Given the description of an element on the screen output the (x, y) to click on. 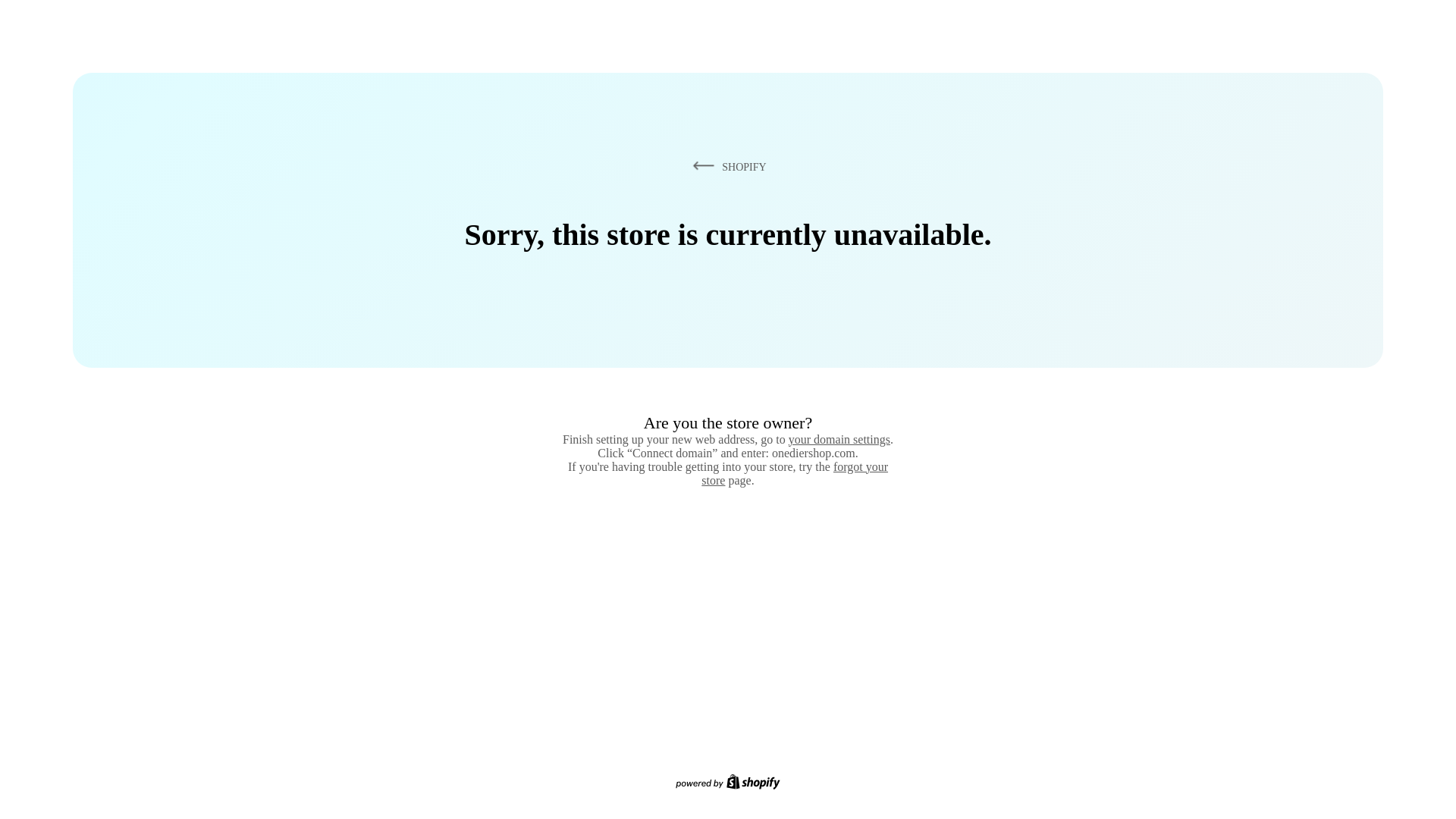
SHOPIFY (726, 166)
your domain settings (839, 439)
forgot your store (794, 473)
